Given the description of an element on the screen output the (x, y) to click on. 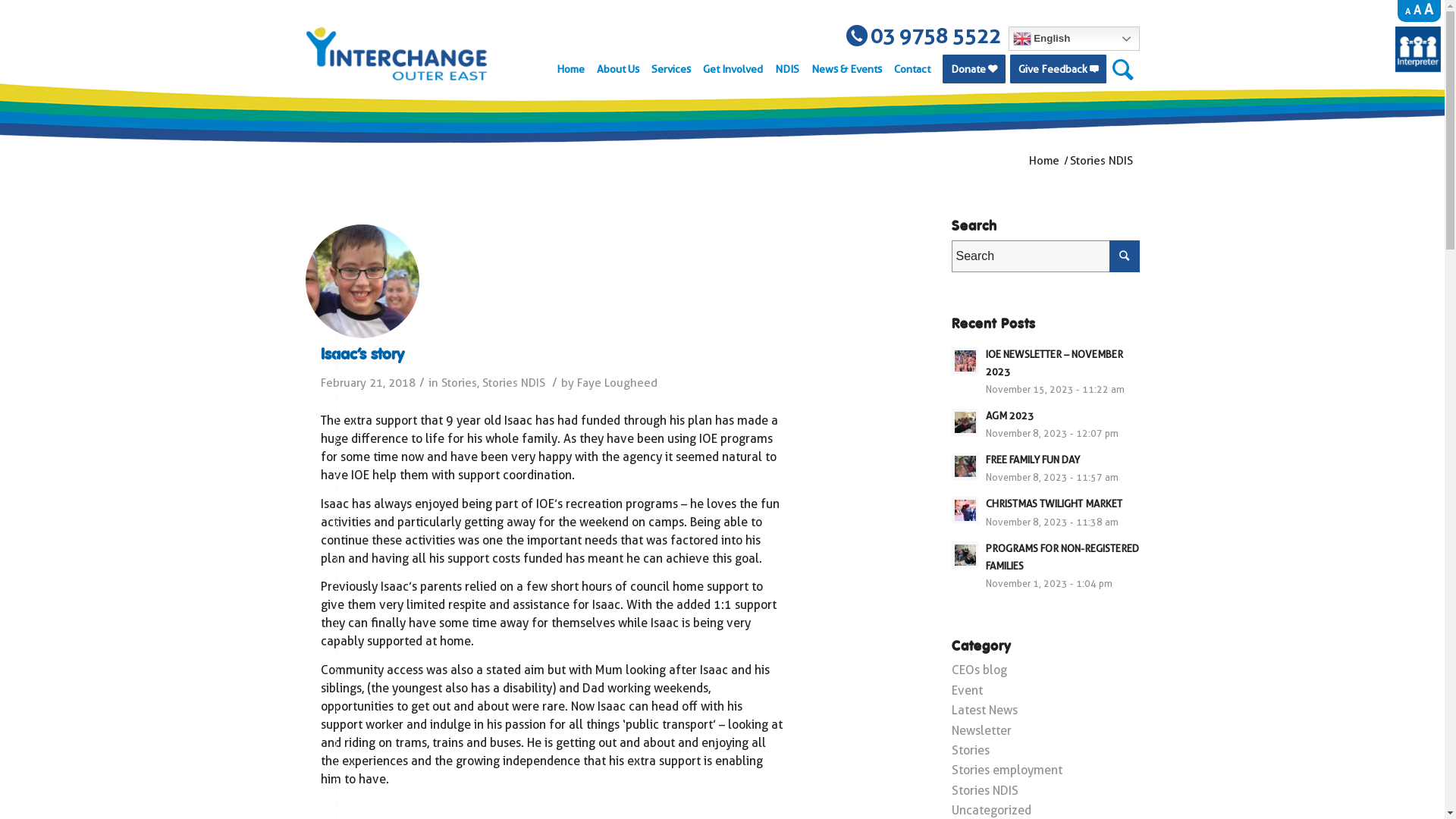
Stories NDIS Element type: text (513, 382)
AGM 2023
November 8, 2023 - 12:07 pm Element type: text (1044, 423)
Latest News Element type: text (983, 709)
Faye Lougheed Element type: text (616, 382)
Stories employment Element type: text (1005, 769)
Isaac3-1030x668 Element type: hover (361, 281)
A Element type: text (1417, 10)
Home Element type: text (1043, 160)
Event Element type: text (966, 690)
CEOs blog Element type: text (978, 669)
Stories Element type: text (458, 382)
03 9758 5522 Element type: text (923, 36)
Stories Element type: text (969, 750)
Uncategorized Element type: text (990, 810)
FREE FAMILY FUN DAY
November 8, 2023 - 11:57 am Element type: text (1044, 467)
Newsletter Element type: text (980, 730)
English Element type: text (1073, 38)
A Element type: text (1407, 11)
A Element type: text (1428, 9)
Stories NDIS Element type: text (983, 790)
CHRISTMAS TWILIGHT MARKET
November 8, 2023 - 11:38 am Element type: text (1044, 511)
Translation Services Element type: hover (1417, 67)
